Given the description of an element on the screen output the (x, y) to click on. 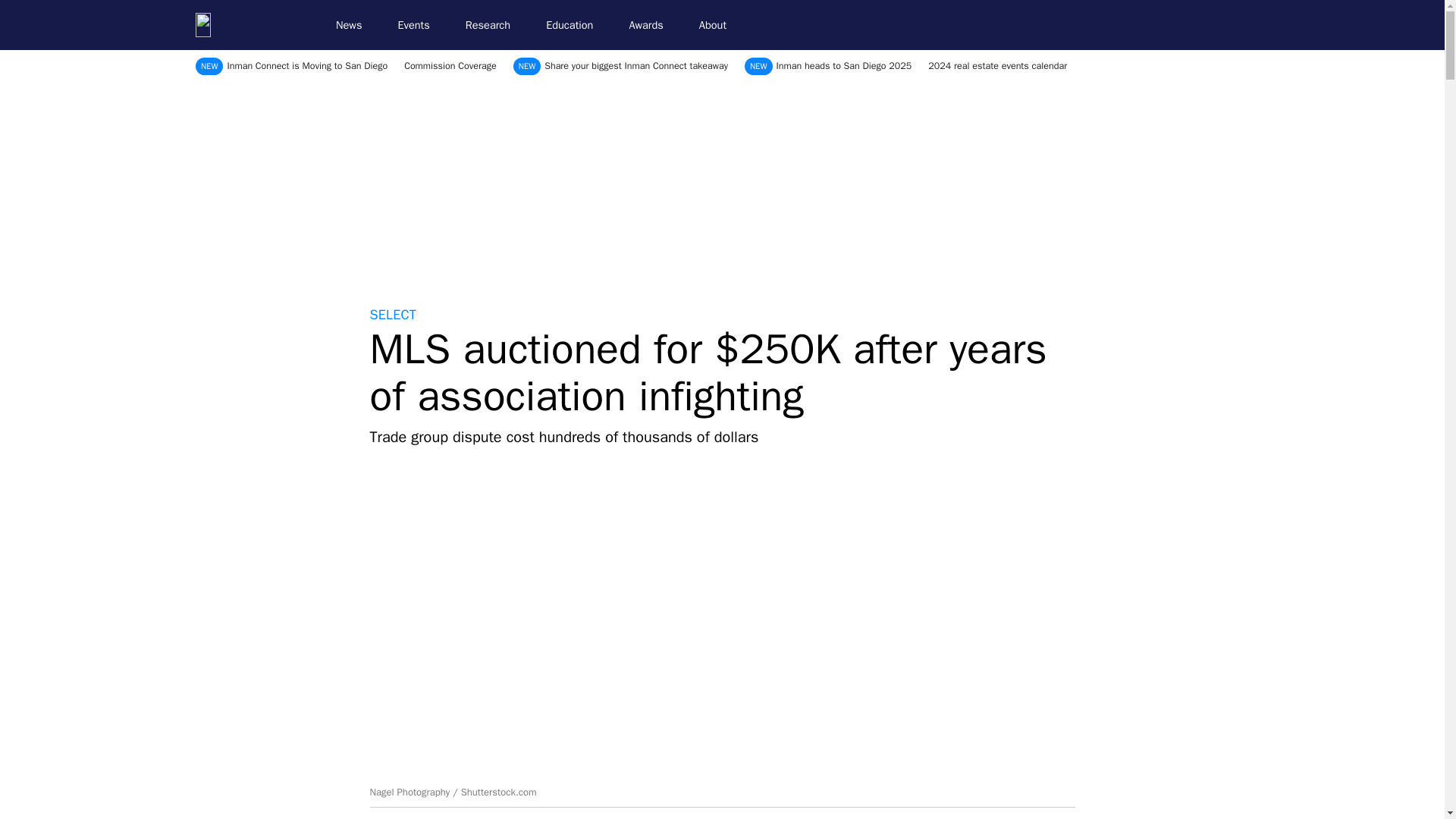
Research (493, 25)
Awards (651, 25)
Events (419, 25)
News (355, 25)
Education (575, 25)
